Given the description of an element on the screen output the (x, y) to click on. 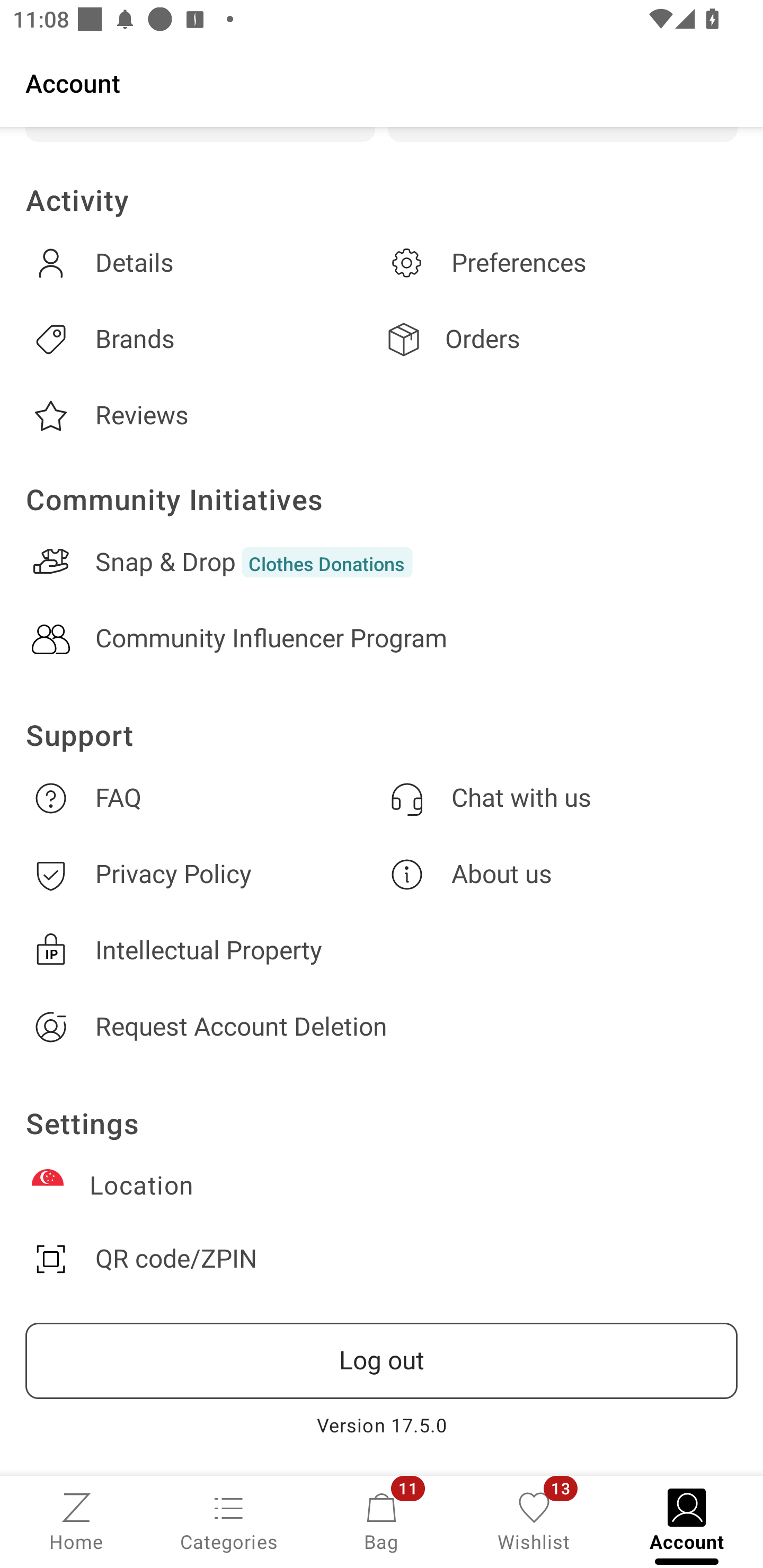
Account (381, 82)
Details (203, 263)
Preferences (559, 263)
Brands (203, 339)
Orders (559, 339)
Reviews (203, 415)
Snap & DropClothes Donations (381, 561)
Community Influencer Program (381, 638)
FAQ (203, 797)
Chat with us (559, 797)
Privacy Policy (203, 873)
About us (559, 873)
Intellectual Property (381, 950)
Request Account Deletion (381, 1026)
QR code/ZPIN (381, 1258)
Log out (381, 1360)
Home (76, 1519)
Categories (228, 1519)
Bag, 11 new notifications Bag (381, 1519)
Wishlist, 13 new notifications Wishlist (533, 1519)
